Given the description of an element on the screen output the (x, y) to click on. 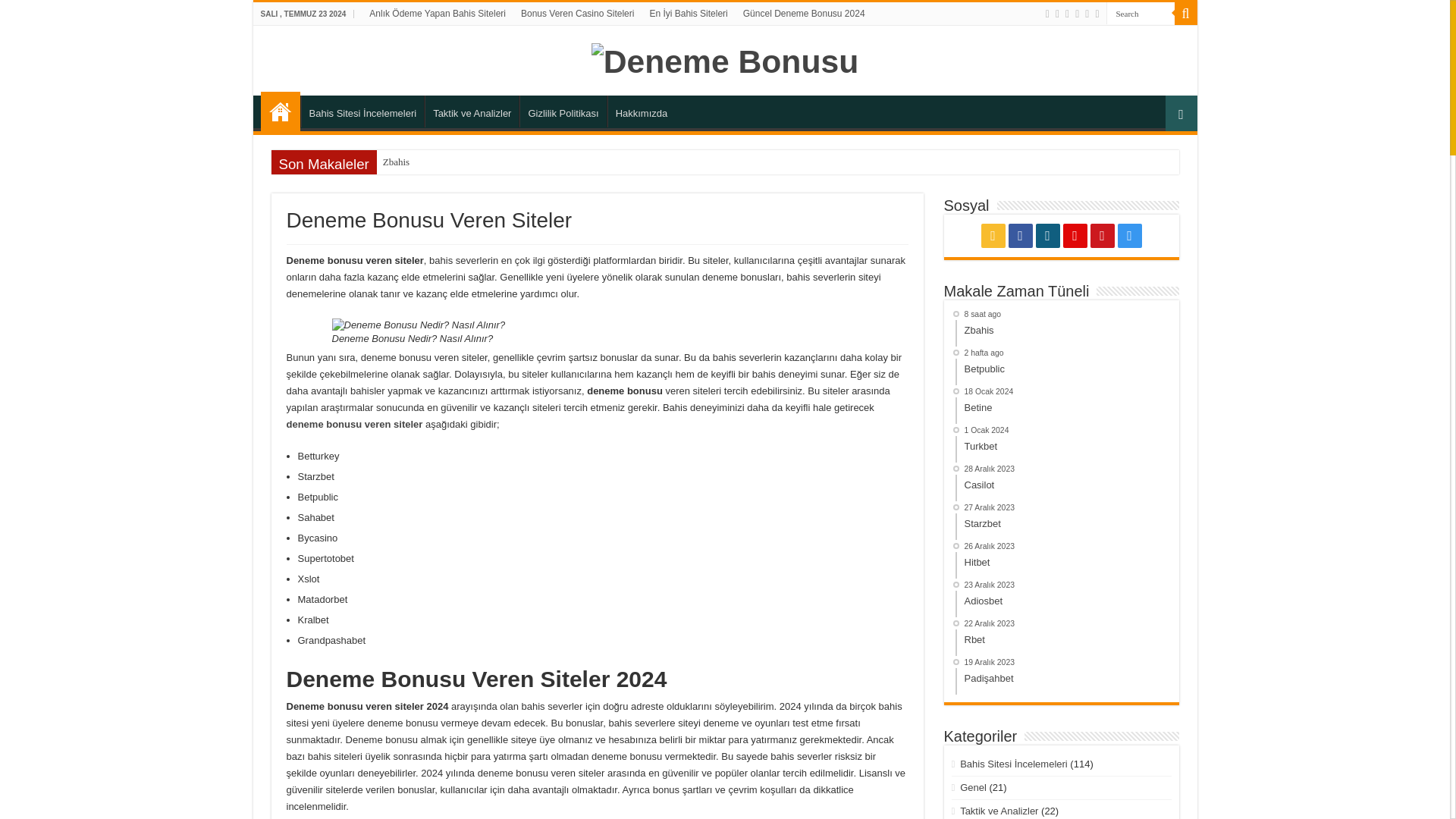
Deneme Bonusu Veren Siteler (279, 111)
Rss (1047, 13)
Taktik ve Analizler (471, 111)
Search (1184, 13)
Search (1184, 13)
Zbahis (464, 161)
Search (1139, 13)
Facebook (1057, 13)
Search (1139, 13)
Search (1139, 13)
Bonus Veren Casino Siteleri (577, 13)
